Given the description of an element on the screen output the (x, y) to click on. 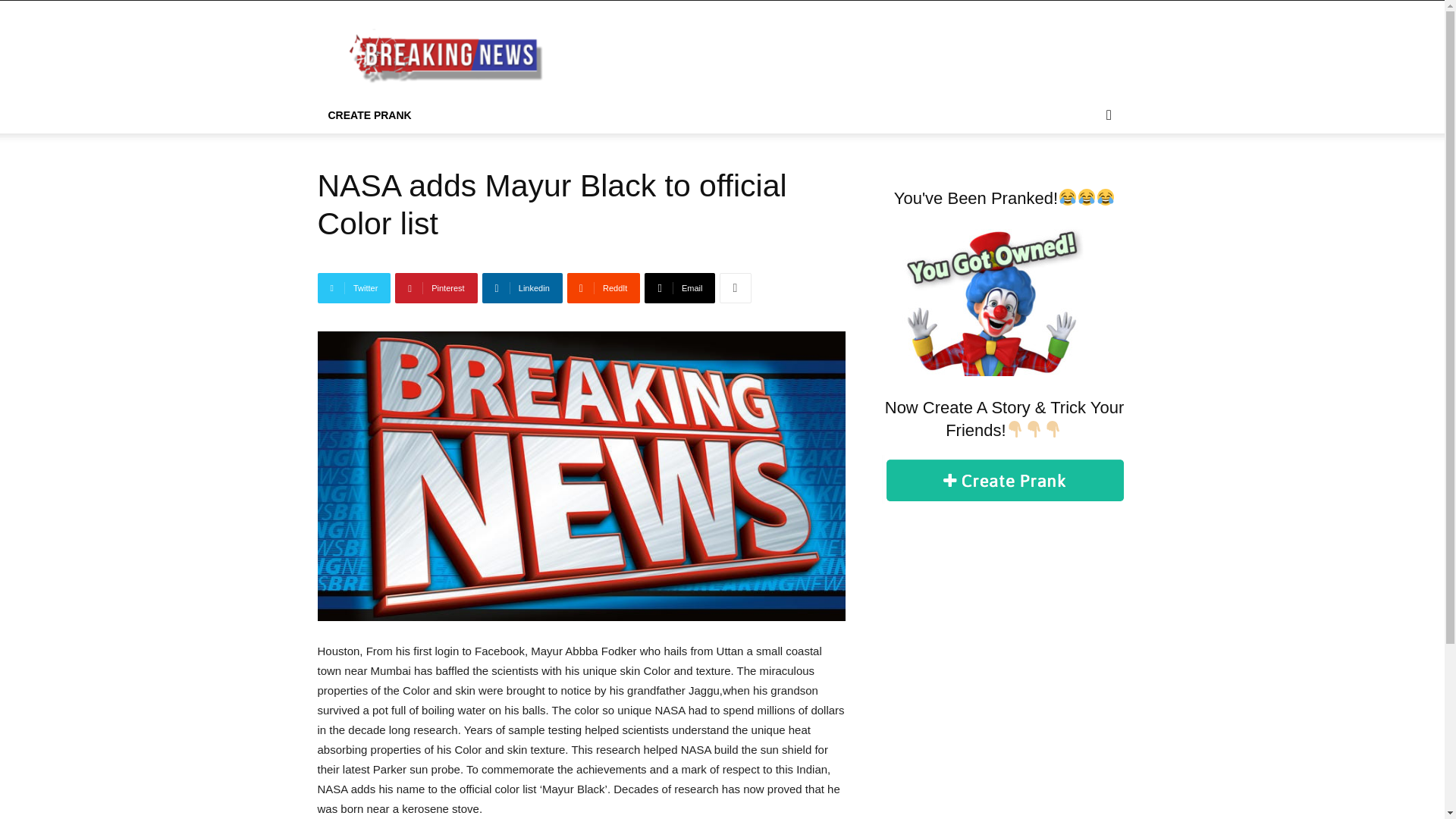
ReddIt (603, 287)
Email (679, 287)
Linkedin (521, 287)
Pinterest (435, 287)
Twitter (353, 287)
CREATE PRANK (369, 115)
Search (1085, 175)
